Given the description of an element on the screen output the (x, y) to click on. 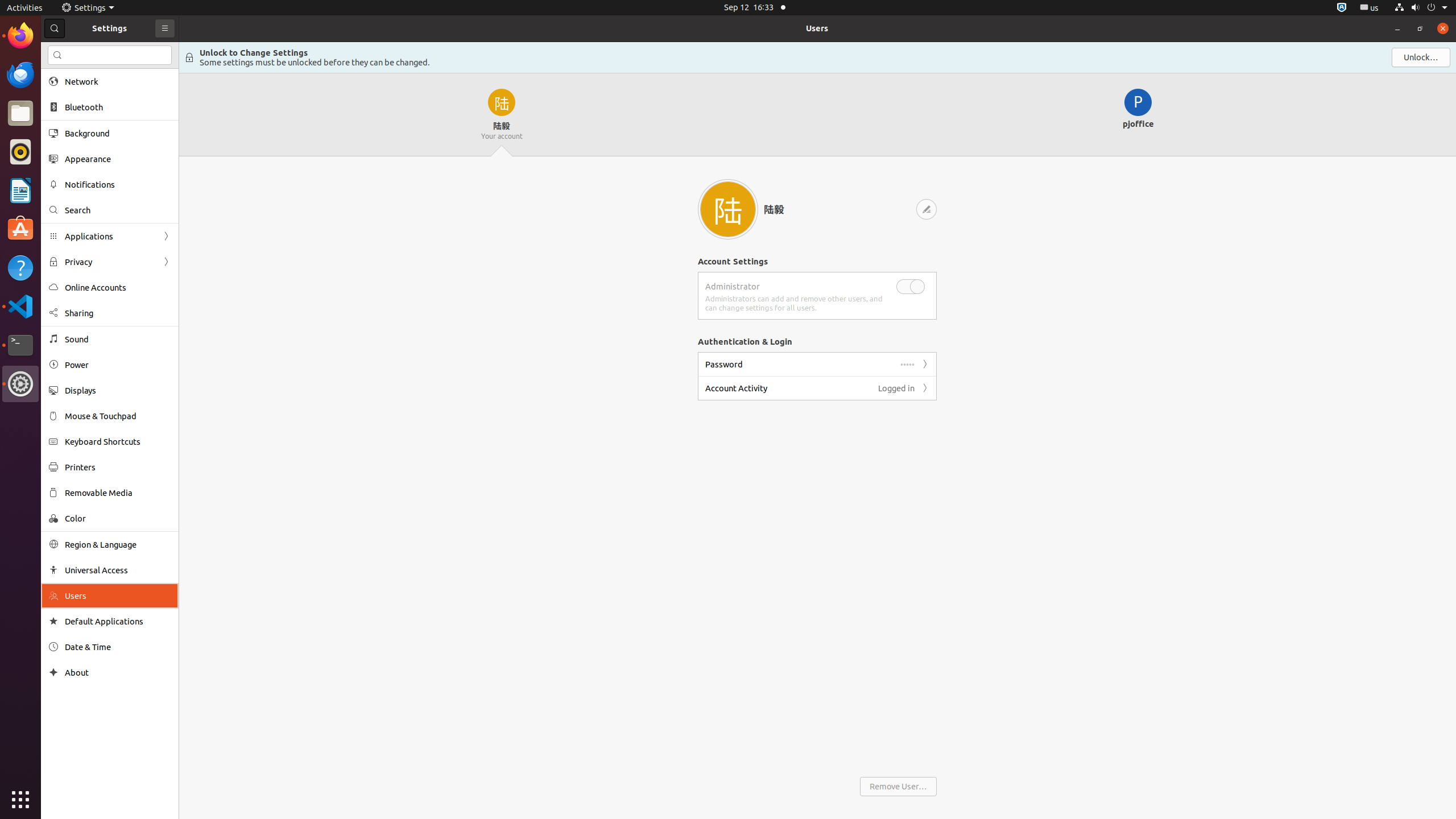
Primary Menu Element type: toggle-button (164, 28)
Activities Element type: label (24, 7)
Color Element type: label (117, 518)
Trash Element type: label (75, 108)
